Given the description of an element on the screen output the (x, y) to click on. 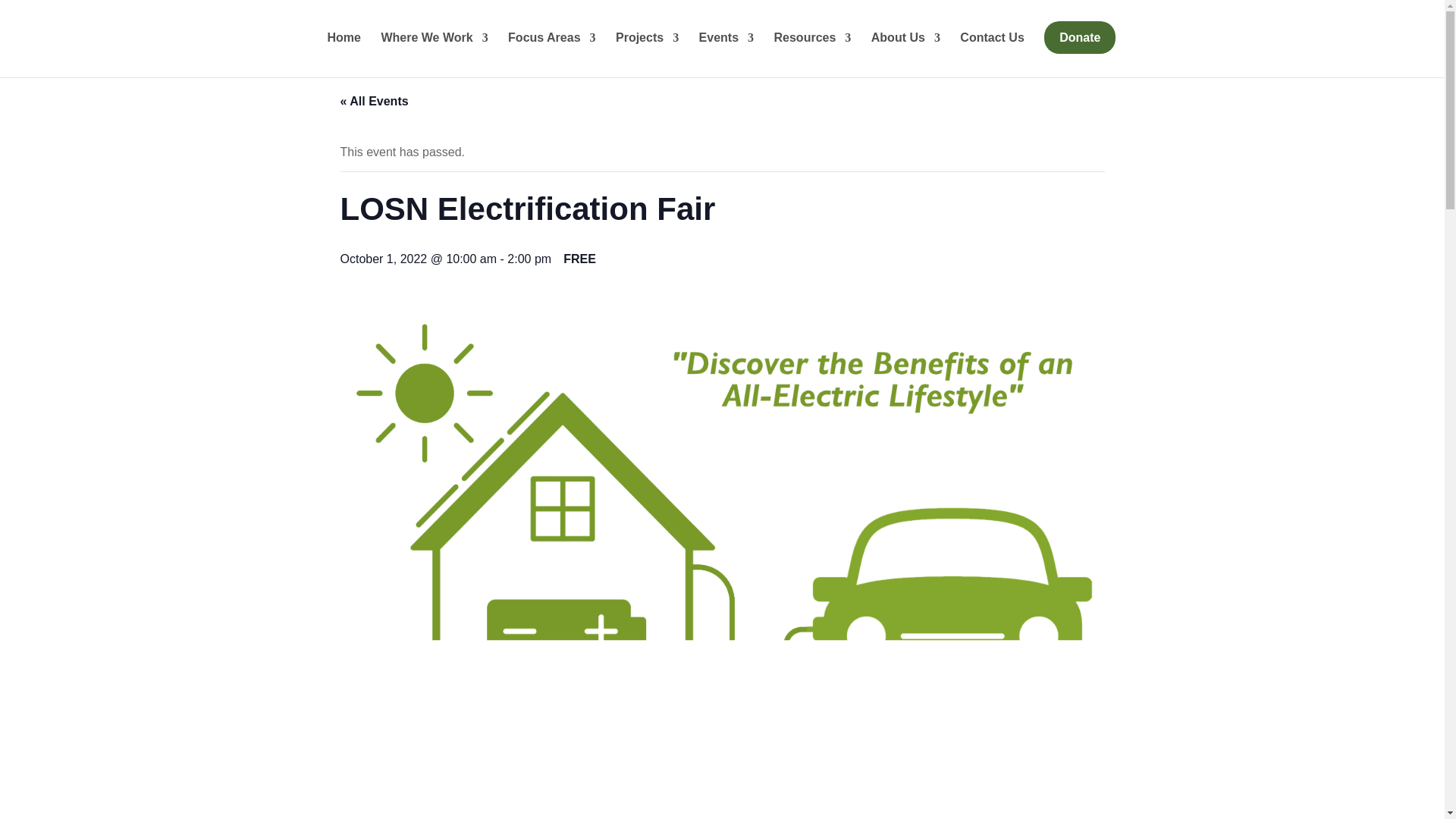
Where We Work (433, 48)
Donate (1079, 37)
About Us (905, 48)
Events (726, 48)
Resources (811, 48)
Contact Us (991, 48)
Home (344, 48)
Focus Areas (551, 48)
Projects (646, 48)
